Given the description of an element on the screen output the (x, y) to click on. 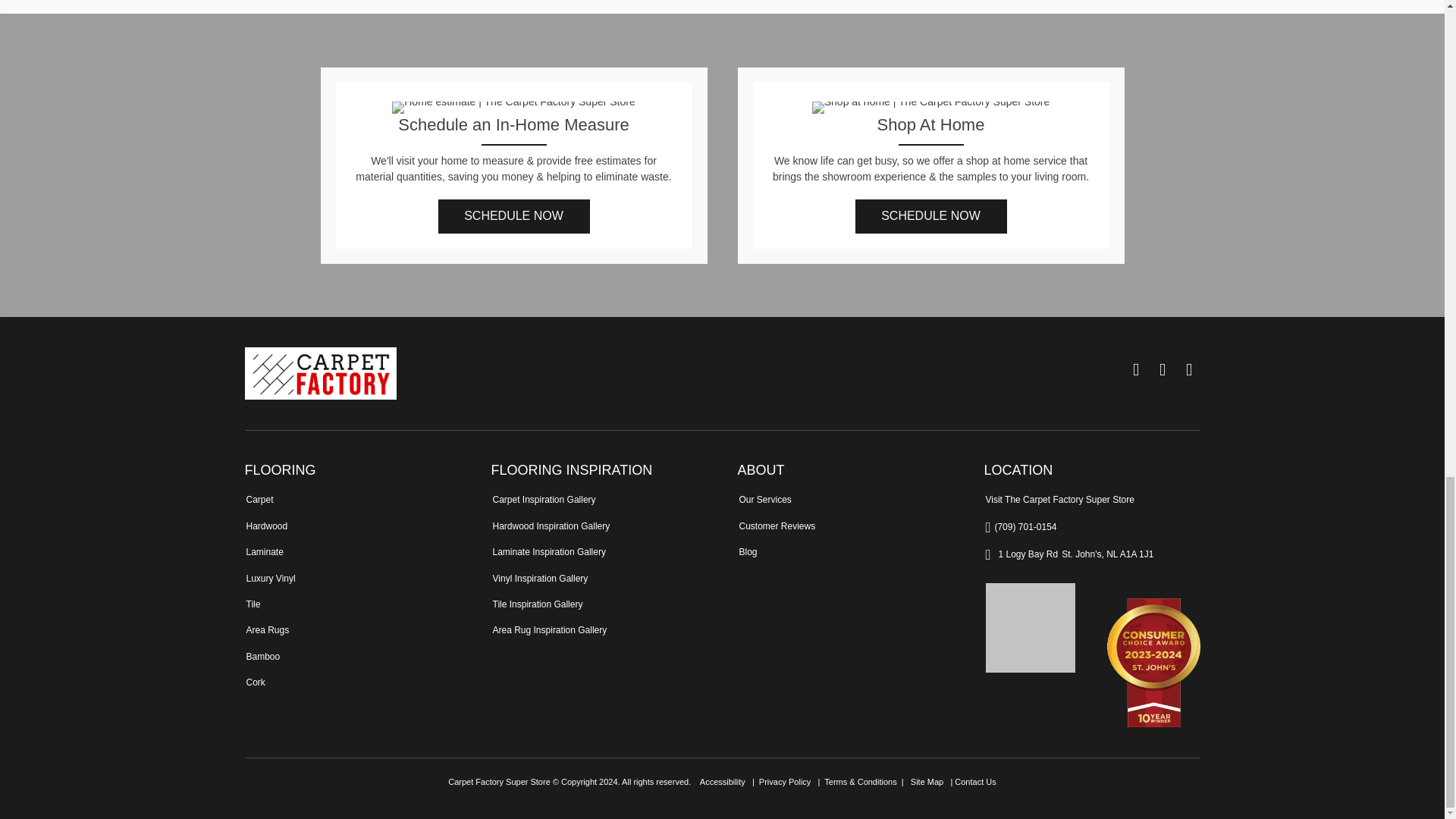
Click Here (931, 216)
home-estimate11-1 (512, 107)
FLOORING INSPIRATION (572, 469)
New-logo (320, 373)
shopathome1 (930, 107)
ABOUT (760, 469)
Click Here (513, 216)
FLOORING (279, 469)
